Given the description of an element on the screen output the (x, y) to click on. 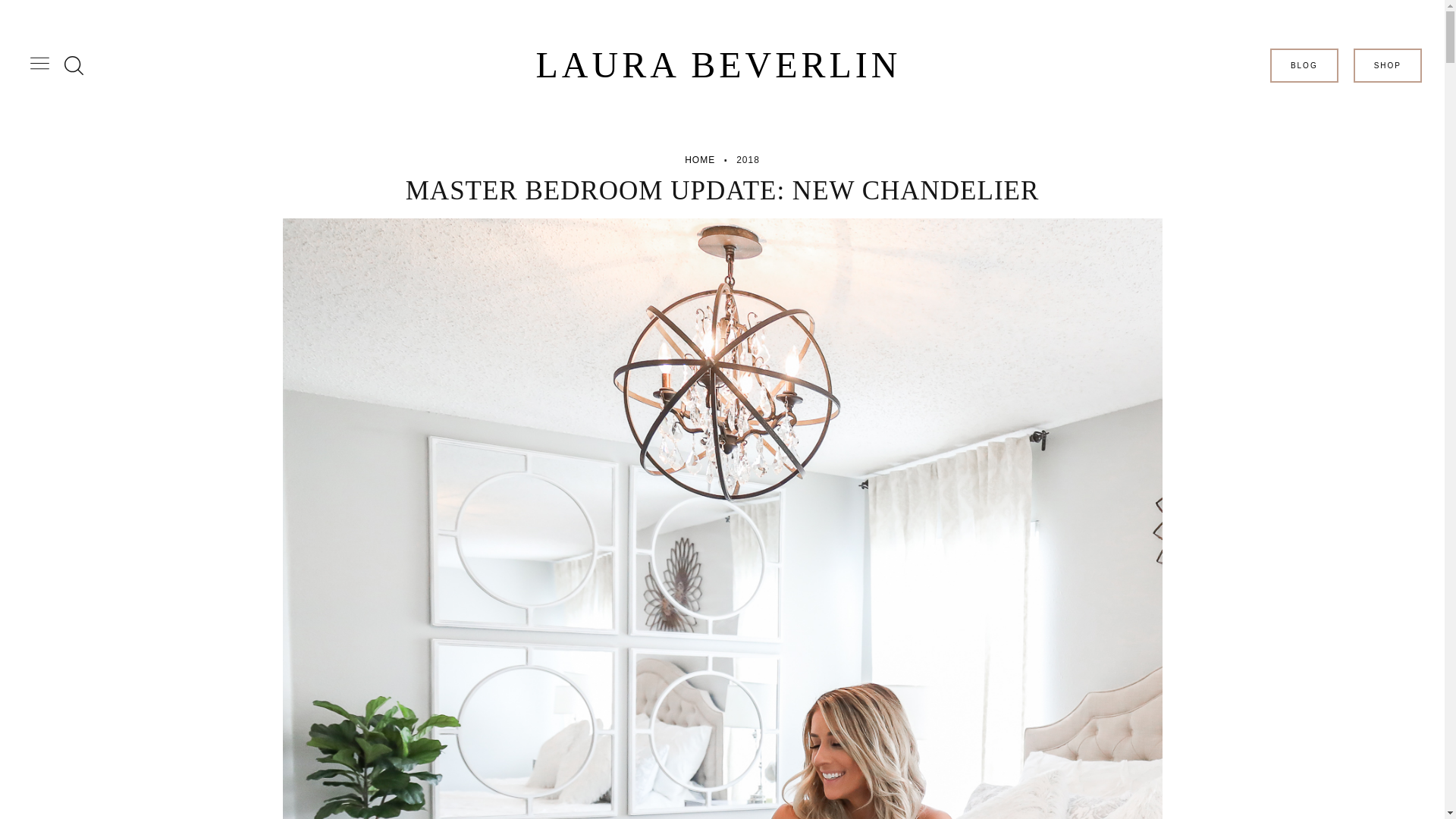
BLOG (1303, 65)
HOME (699, 160)
SHOP (1388, 65)
LAURA BEVERLIN (718, 64)
